Given the description of an element on the screen output the (x, y) to click on. 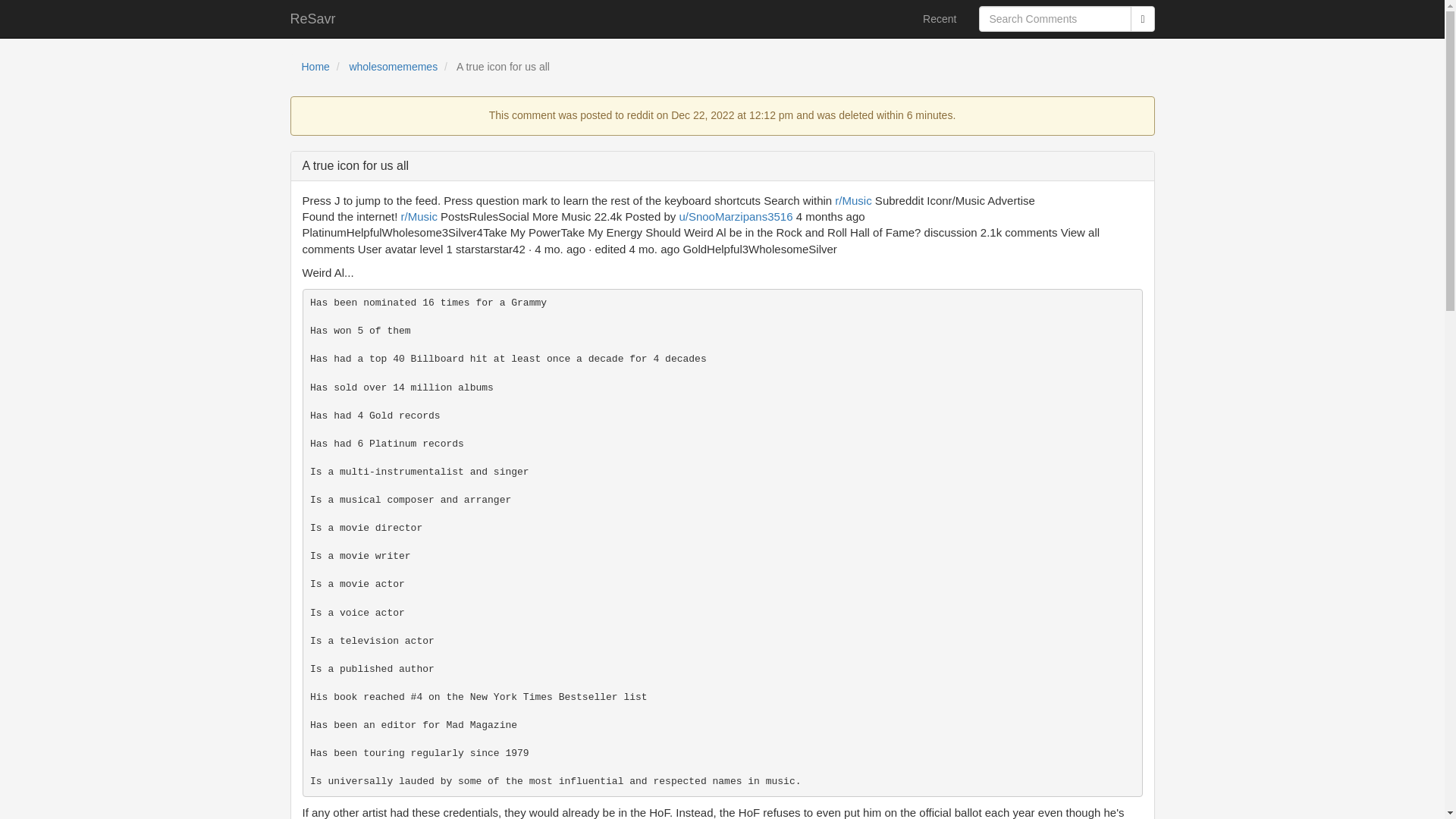
Recent (939, 18)
Home (315, 66)
ReSavr (313, 18)
wholesomememes (393, 66)
